Given the description of an element on the screen output the (x, y) to click on. 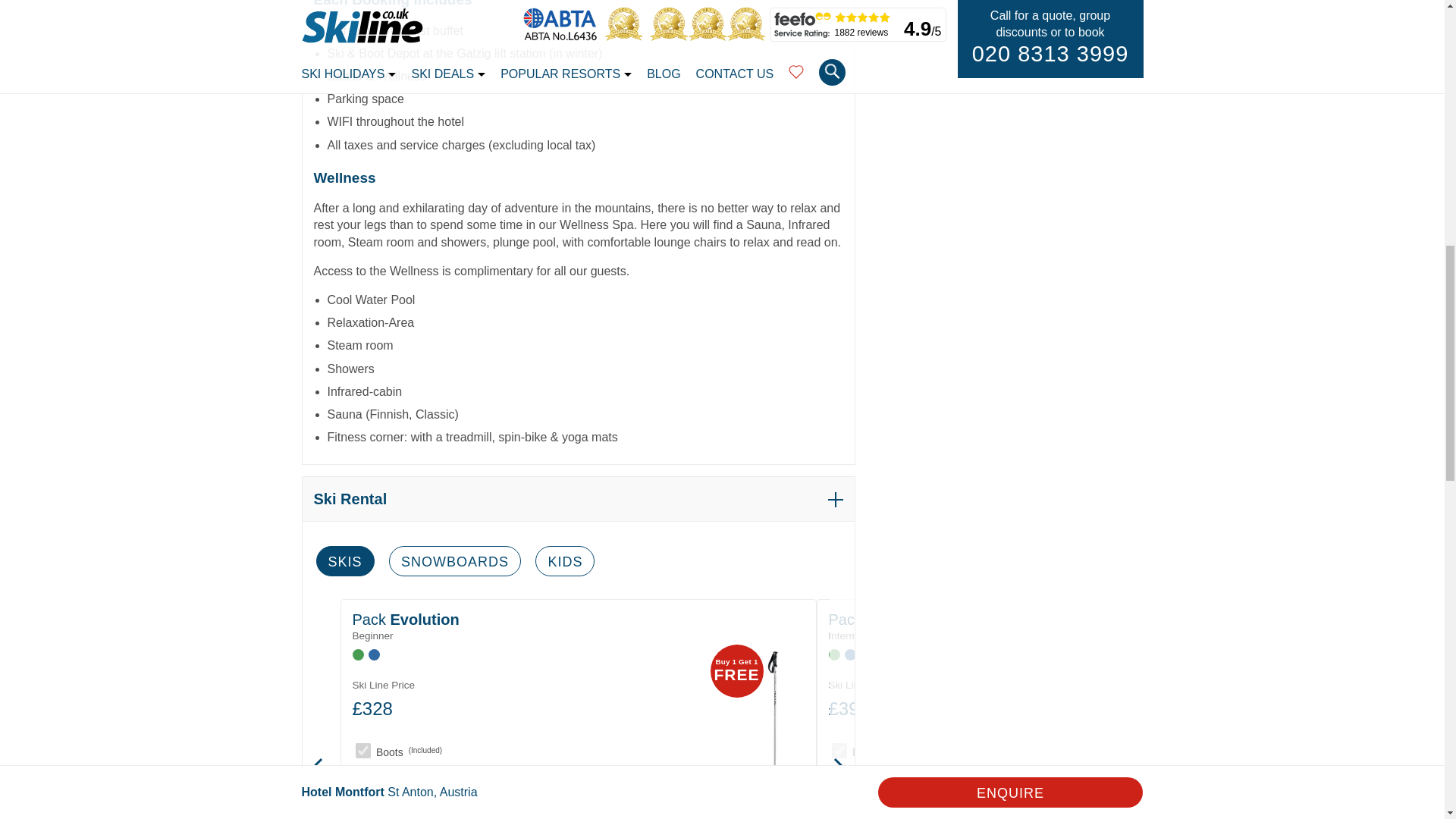
on (362, 774)
on (362, 750)
on (838, 774)
on (838, 750)
